Given the description of an element on the screen output the (x, y) to click on. 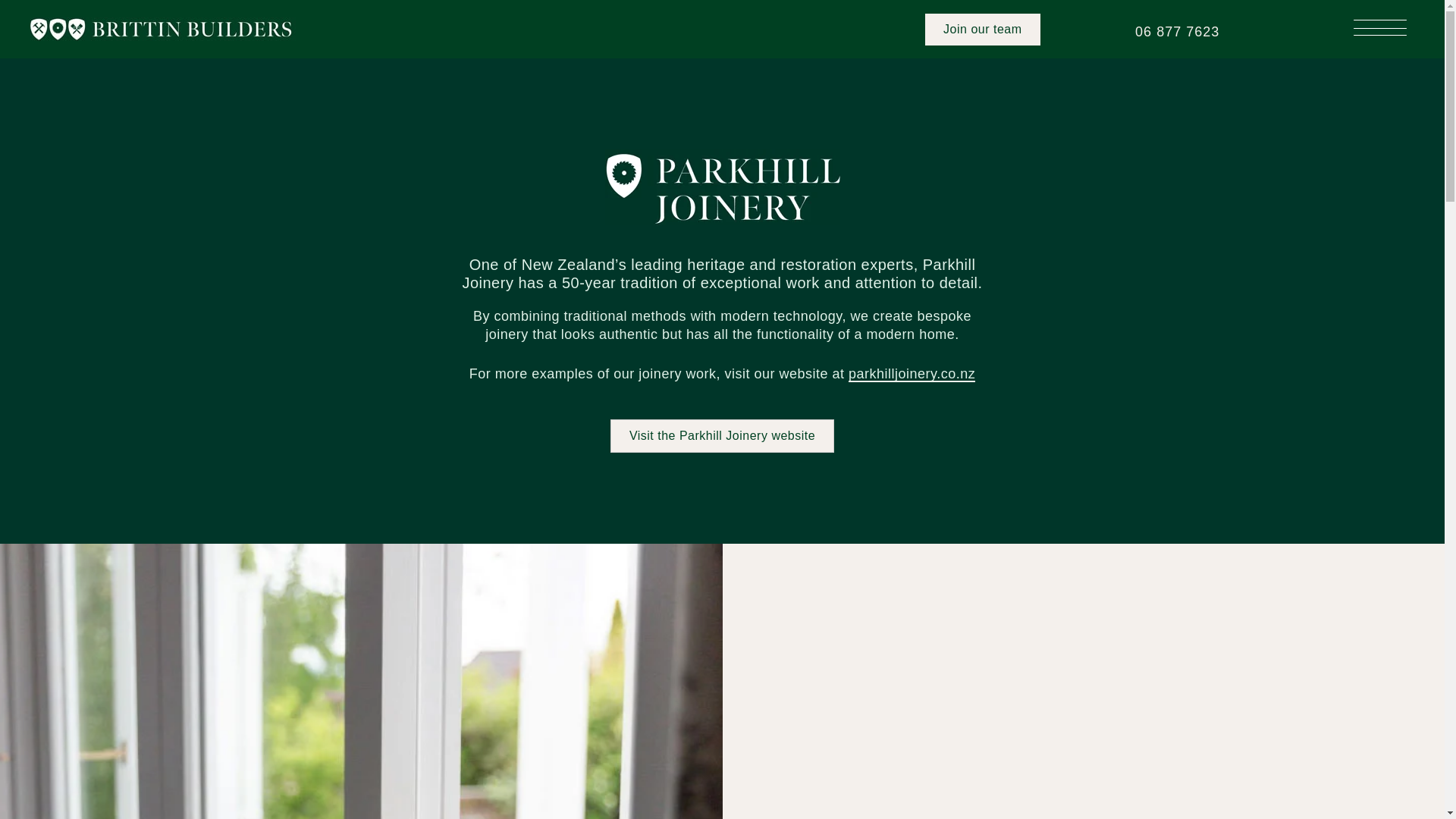
parkhilljoinery.co.nz (911, 374)
06 877 7623 (1177, 33)
Join our team (981, 29)
Logo-Horizontal-resized (162, 28)
06 877 7623 (1177, 33)
Visit the Parkhill Joinery website (722, 435)
